Given the description of an element on the screen output the (x, y) to click on. 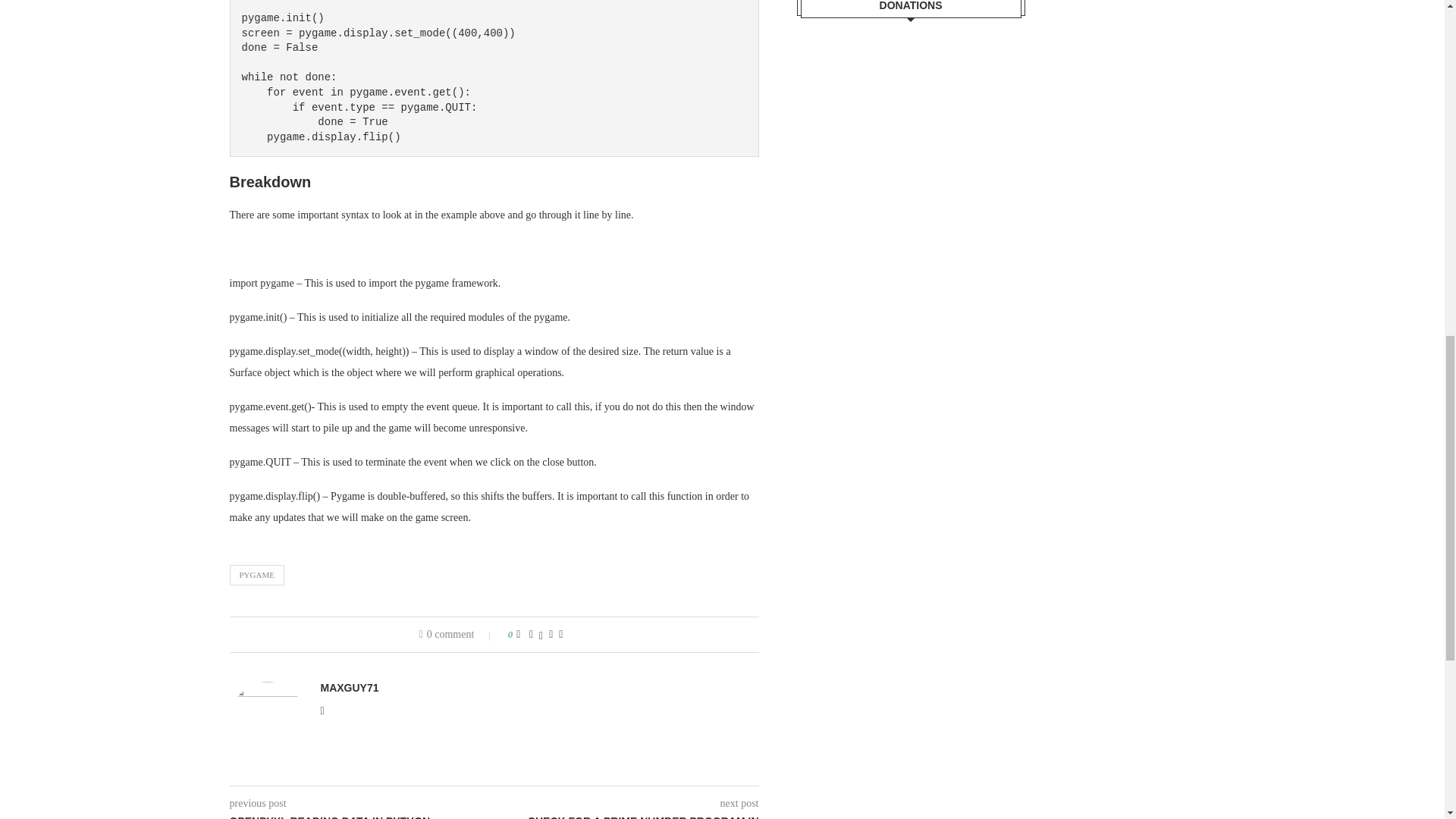
MAXGUY71 (349, 686)
PYGAME (255, 574)
Like (517, 633)
CHECK FOR A PRIME NUMBER PROGRAM IN PYTHON (626, 816)
OPENPYXL READING DATA IN PYTHON (360, 816)
Author maxguy71 (349, 686)
